Given the description of an element on the screen output the (x, y) to click on. 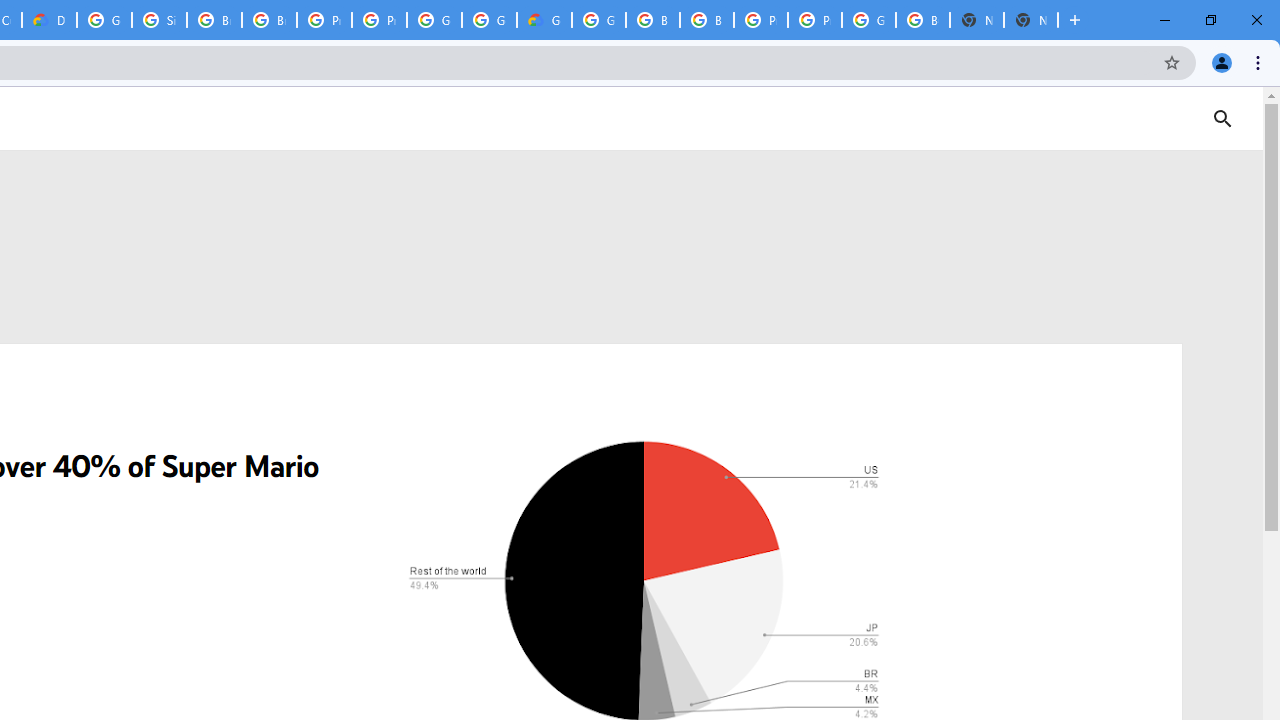
Google Cloud Estimate Summary (544, 20)
Sign in - Google Accounts (158, 20)
New Tab (1030, 20)
Google Cloud Platform (489, 20)
Browse Chrome as a guest - Computer - Google Chrome Help (652, 20)
Browse Chrome as a guest - Computer - Google Chrome Help (213, 20)
